Given the description of an element on the screen output the (x, y) to click on. 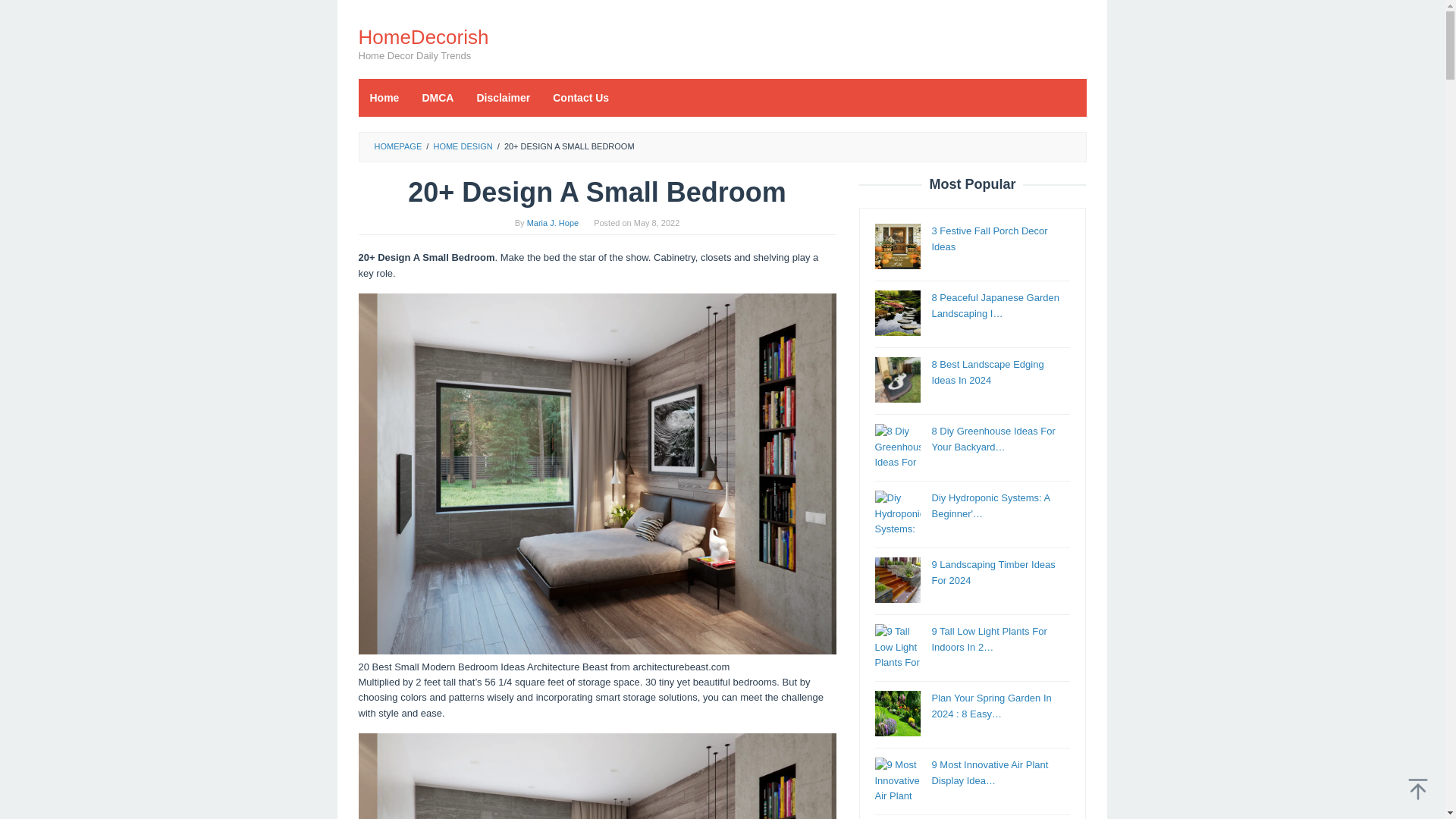
HomeDecorish (422, 36)
8 Best Landscape Edging Ideas In 2024 (987, 371)
HOME DESIGN (462, 145)
HomeDecorish (422, 36)
DMCA (437, 97)
9 Landscaping Timber Ideas For 2024 (992, 572)
Contact Us (580, 97)
Maria J. Hope (552, 222)
Home (384, 97)
3 Festive Fall Porch Decor Ideas (988, 238)
Disclaimer (502, 97)
Permalink to: Maria J. Hope (552, 222)
HOMEPAGE (398, 145)
